Given the description of an element on the screen output the (x, y) to click on. 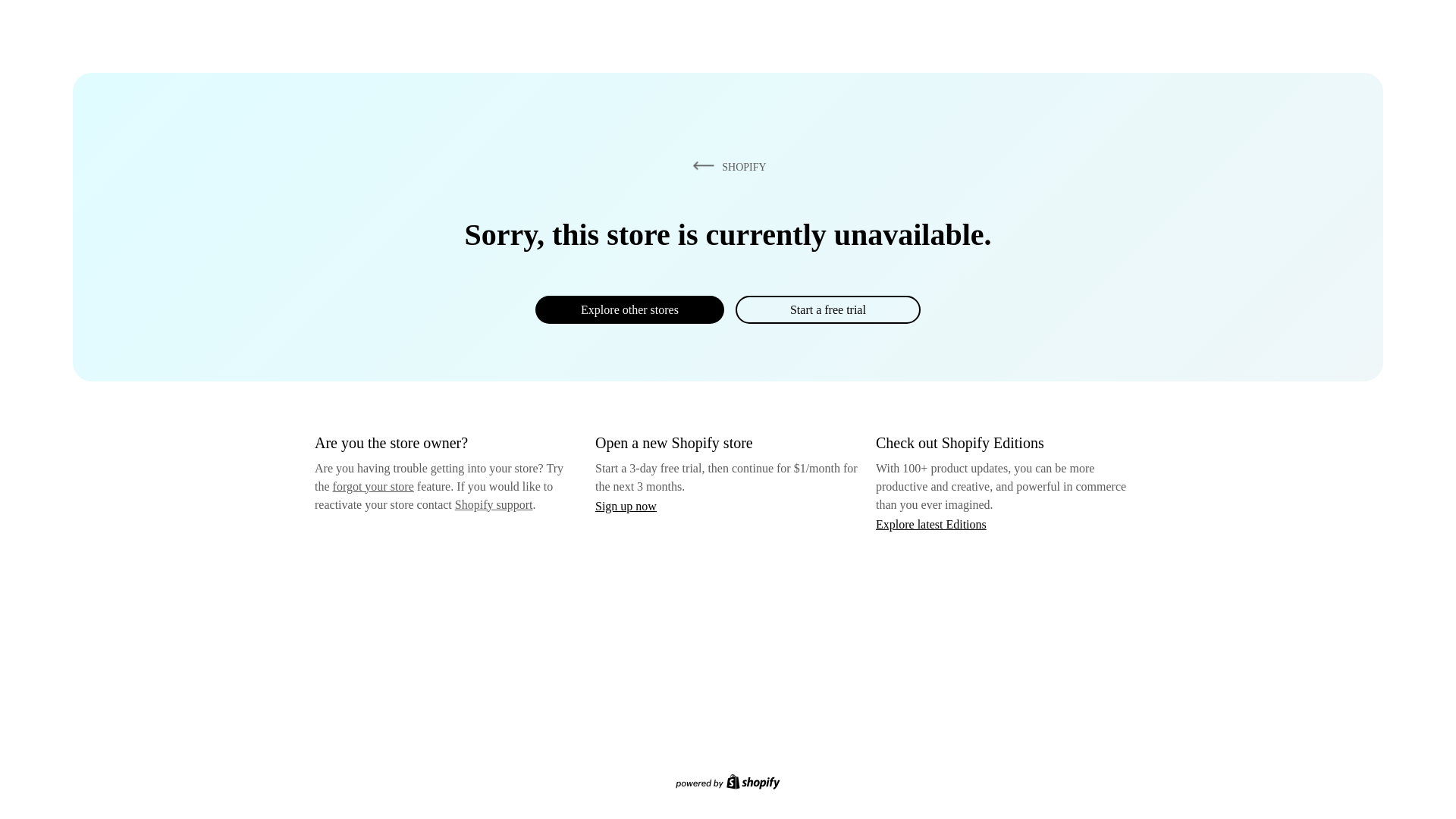
Explore other stores (629, 309)
Shopify support (493, 504)
Explore latest Editions (931, 523)
Sign up now (625, 505)
forgot your store (373, 486)
Start a free trial (827, 309)
SHOPIFY (726, 166)
